Given the description of an element on the screen output the (x, y) to click on. 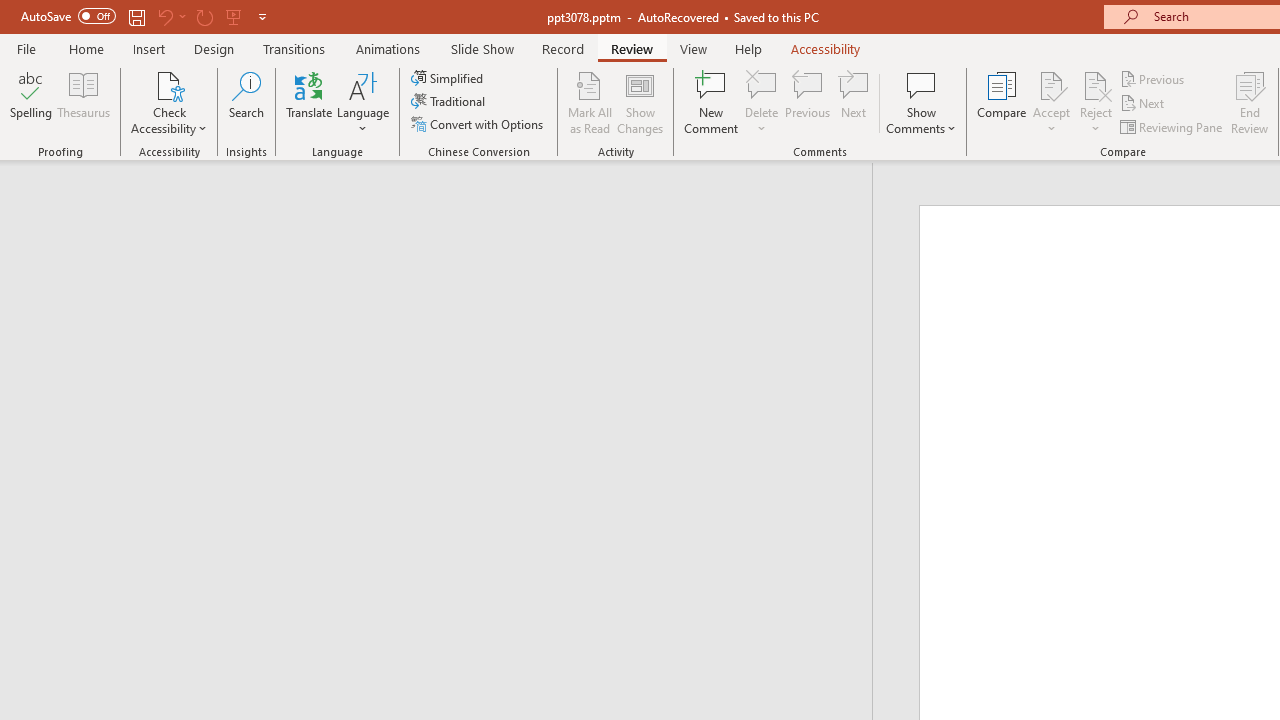
Language (363, 102)
Spelling... (31, 102)
End Review (1249, 102)
Reviewing Pane (1172, 126)
Translate (309, 102)
Previous (1153, 78)
Next (1144, 103)
Check Accessibility (169, 102)
Accept Change (1051, 84)
Reject (1096, 102)
Delete (762, 84)
